Given the description of an element on the screen output the (x, y) to click on. 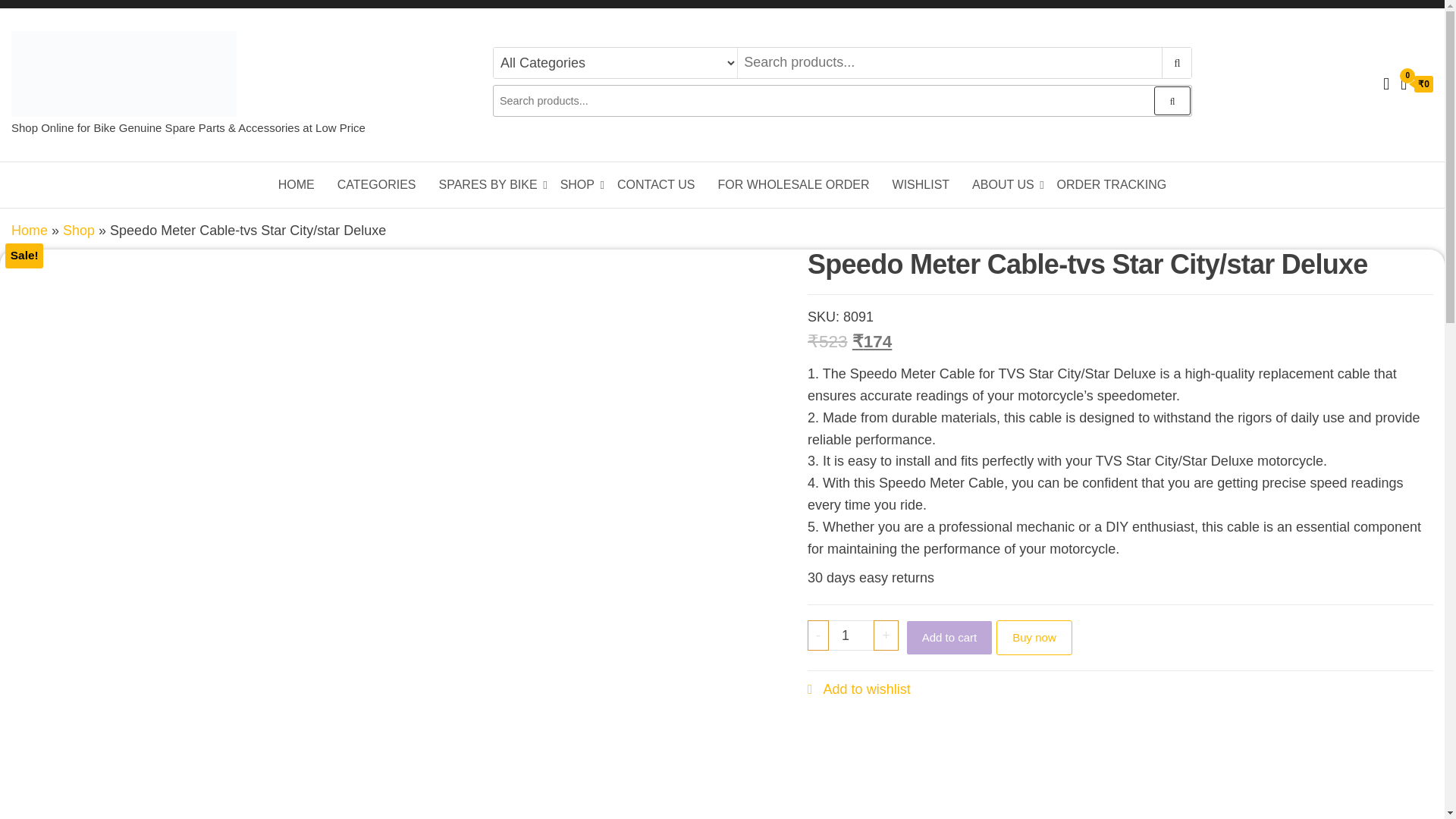
CATEGORIES (377, 185)
SPARES BY BIKE (488, 185)
Indian Bikes Spares (111, 128)
1 (851, 634)
HOME (296, 185)
My Account (1386, 83)
HOME (296, 185)
View your shopping cart (1416, 84)
CATEGORIES (377, 185)
Spares by bike (488, 185)
